Given the description of an element on the screen output the (x, y) to click on. 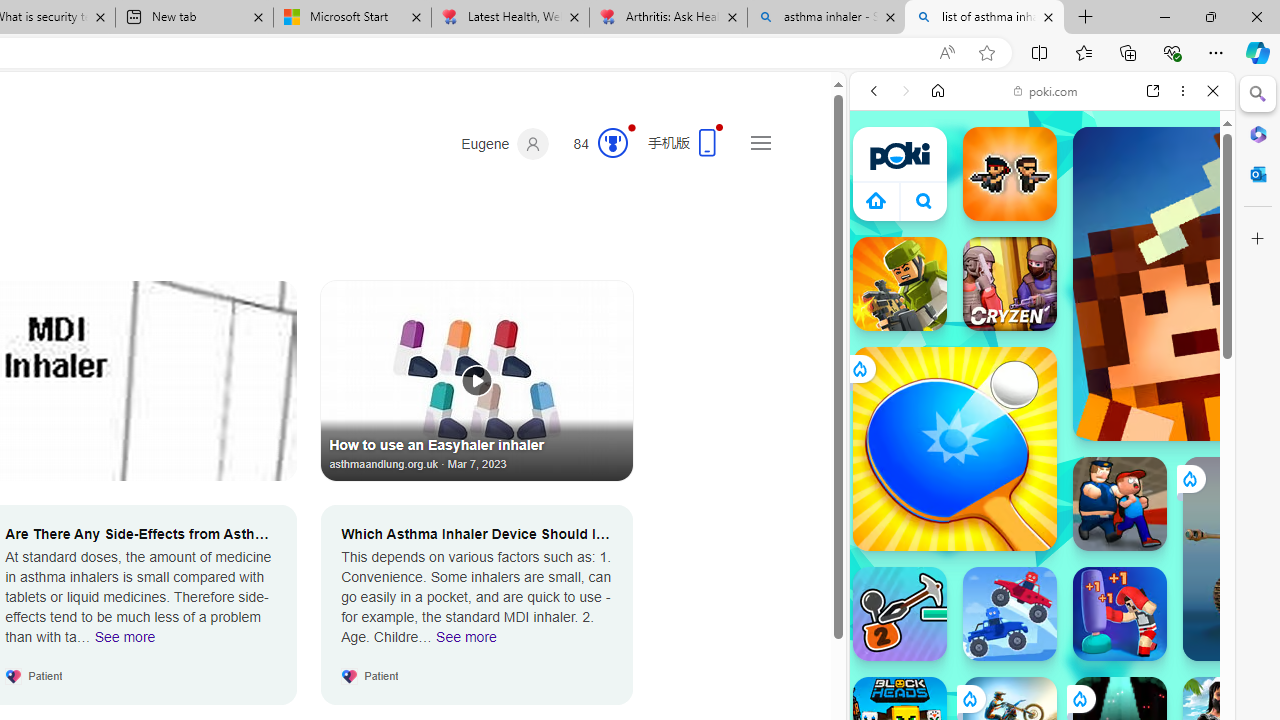
Poki (1034, 288)
Shooting Games (1042, 518)
Cryzen.io (1009, 283)
Zombie Rush (1009, 173)
Search the web (1051, 137)
Punch Legend Simulator Punch Legend Simulator (1119, 613)
Show More Car Games (1164, 472)
Show More Io Games (1164, 619)
Microsoft Rewards 84 (594, 143)
Car Games (1042, 470)
Two Player Games (1042, 568)
Arthritis: Ask Health Professionals (668, 17)
